Given the description of an element on the screen output the (x, y) to click on. 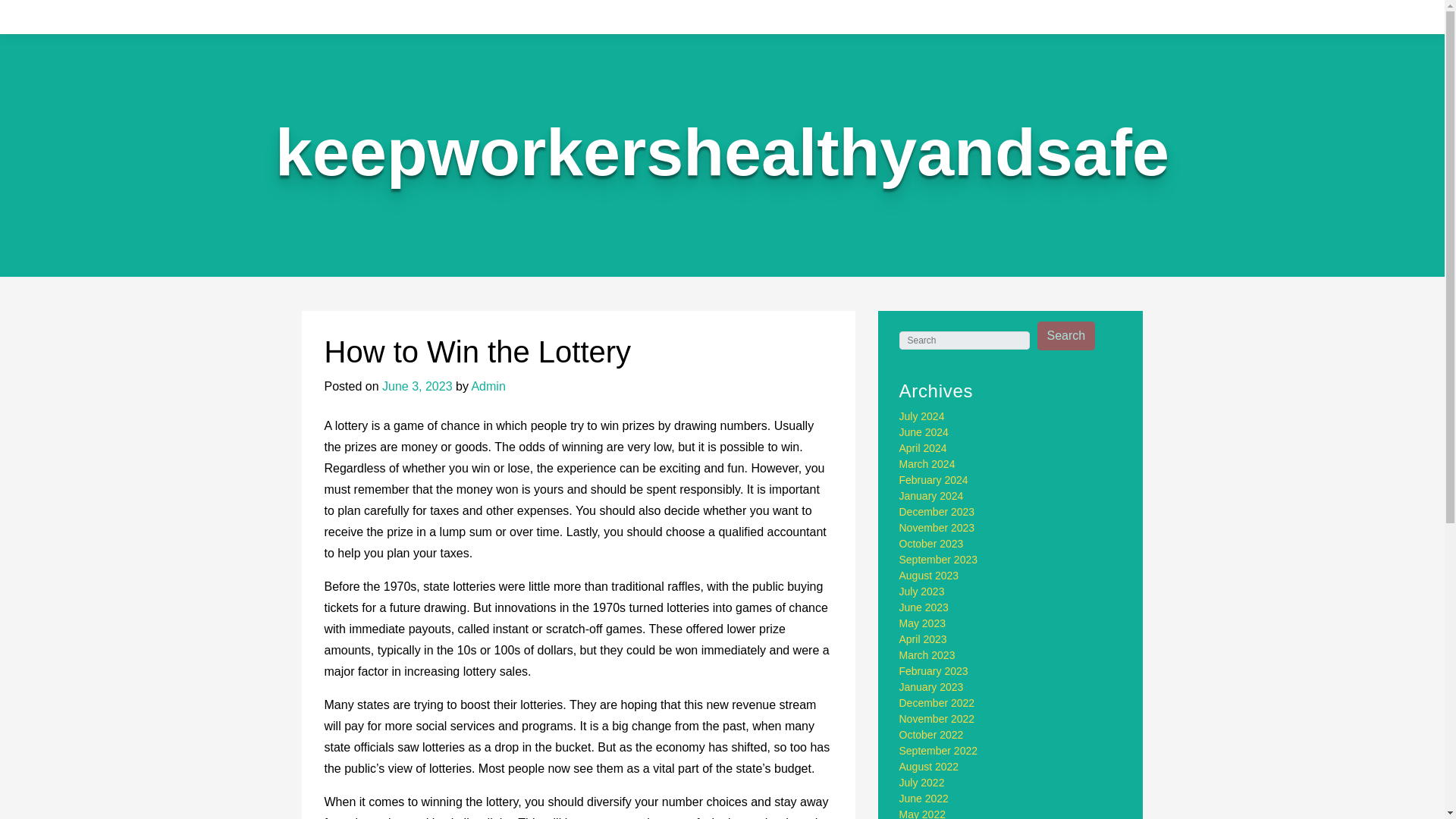
March 2023 (927, 654)
July 2024 (921, 416)
Admin (487, 386)
Search (1066, 335)
June 3, 2023 (416, 386)
January 2023 (931, 686)
November 2022 (937, 718)
August 2023 (929, 575)
June 2023 (924, 607)
November 2023 (937, 527)
September 2022 (938, 750)
July 2023 (921, 591)
June 2022 (924, 798)
December 2023 (937, 511)
August 2022 (929, 766)
